Given the description of an element on the screen output the (x, y) to click on. 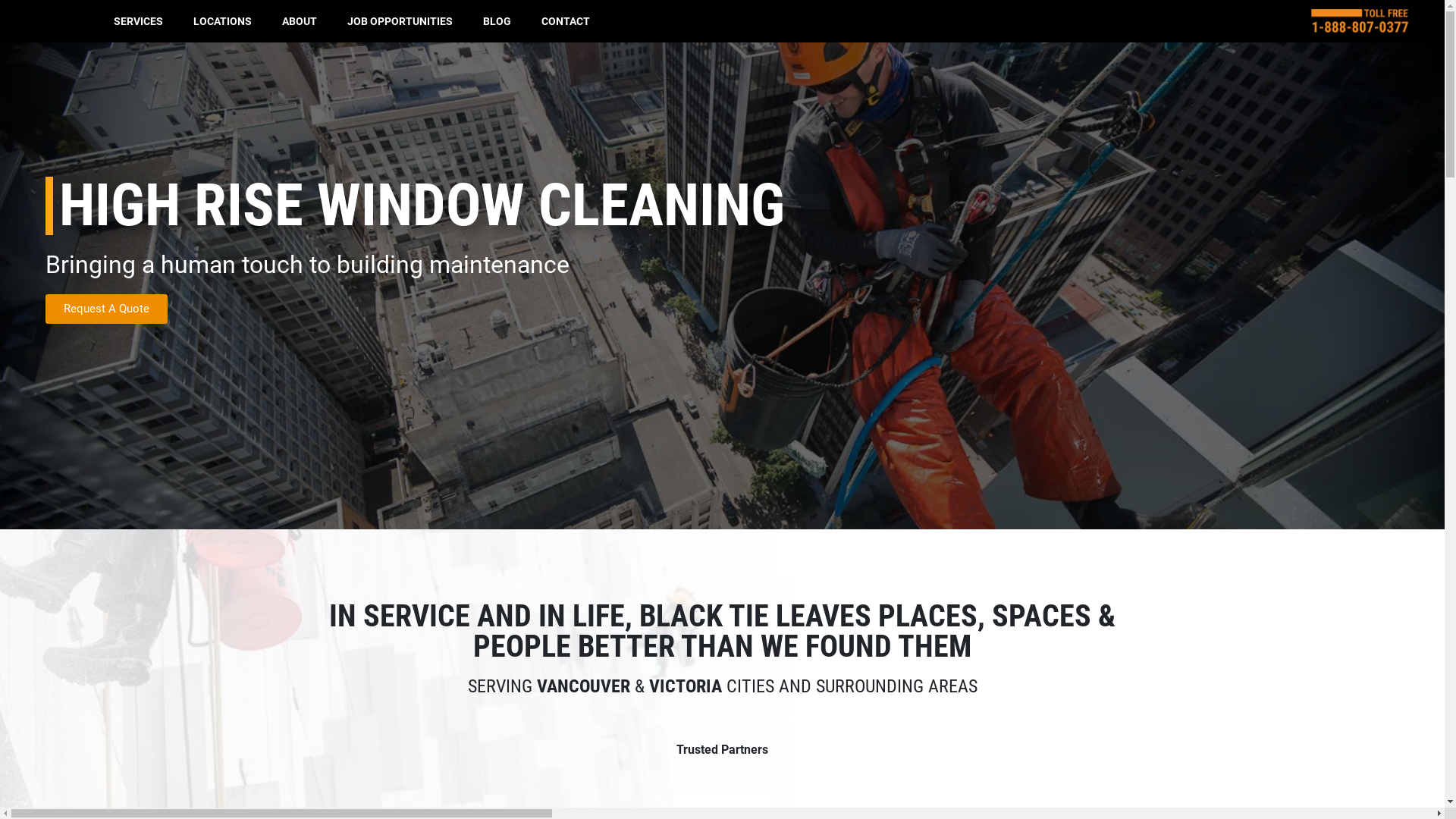
LOCATIONS Element type: text (222, 20)
Request A Quote Element type: text (106, 308)
SERVICES Element type: text (138, 20)
ABOUT Element type: text (299, 20)
BLOG Element type: text (496, 20)
CONTACT Element type: text (565, 20)
JOB OPPORTUNITIES Element type: text (399, 20)
